Given the description of an element on the screen output the (x, y) to click on. 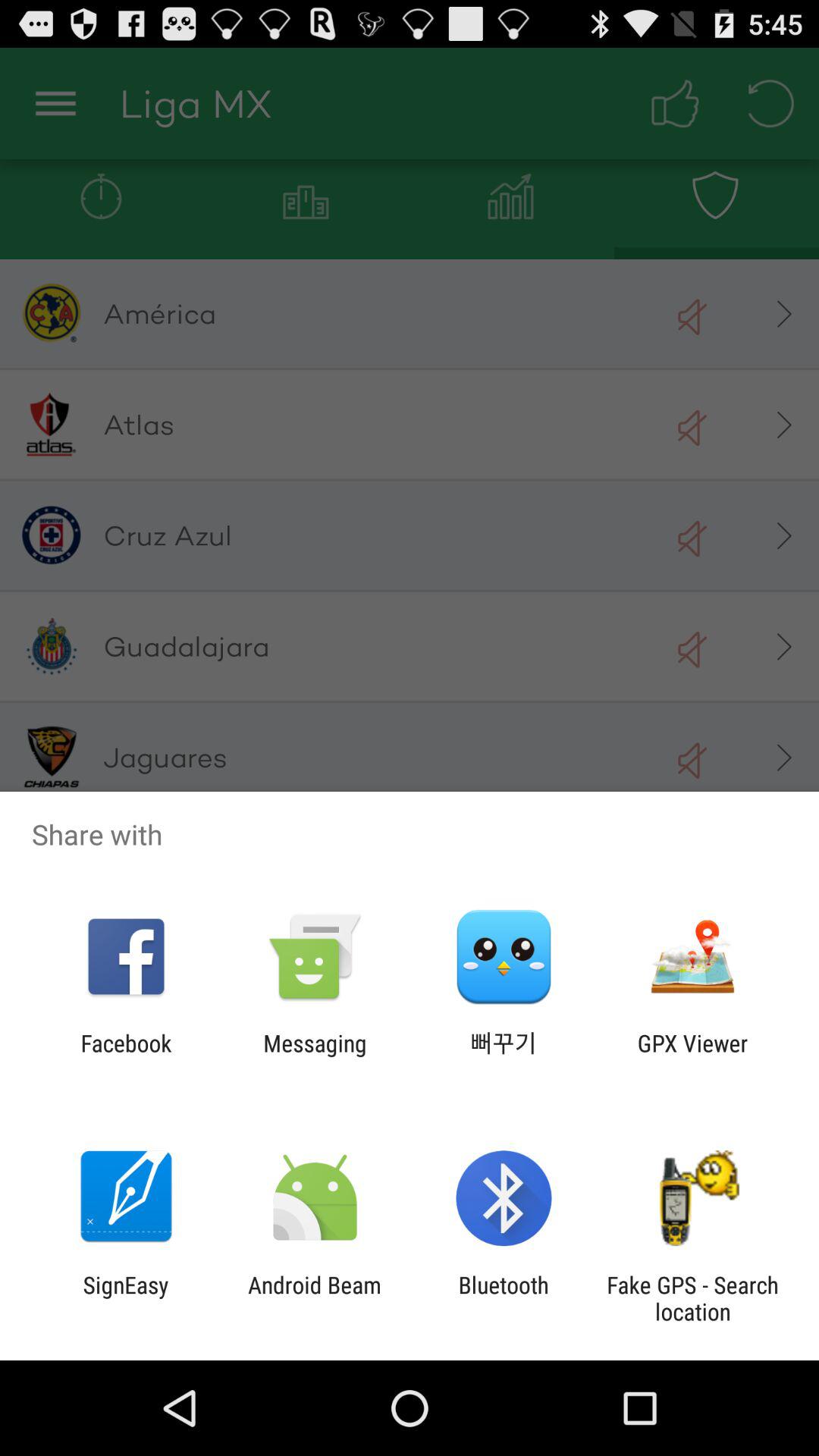
open messaging app (314, 1056)
